Given the description of an element on the screen output the (x, y) to click on. 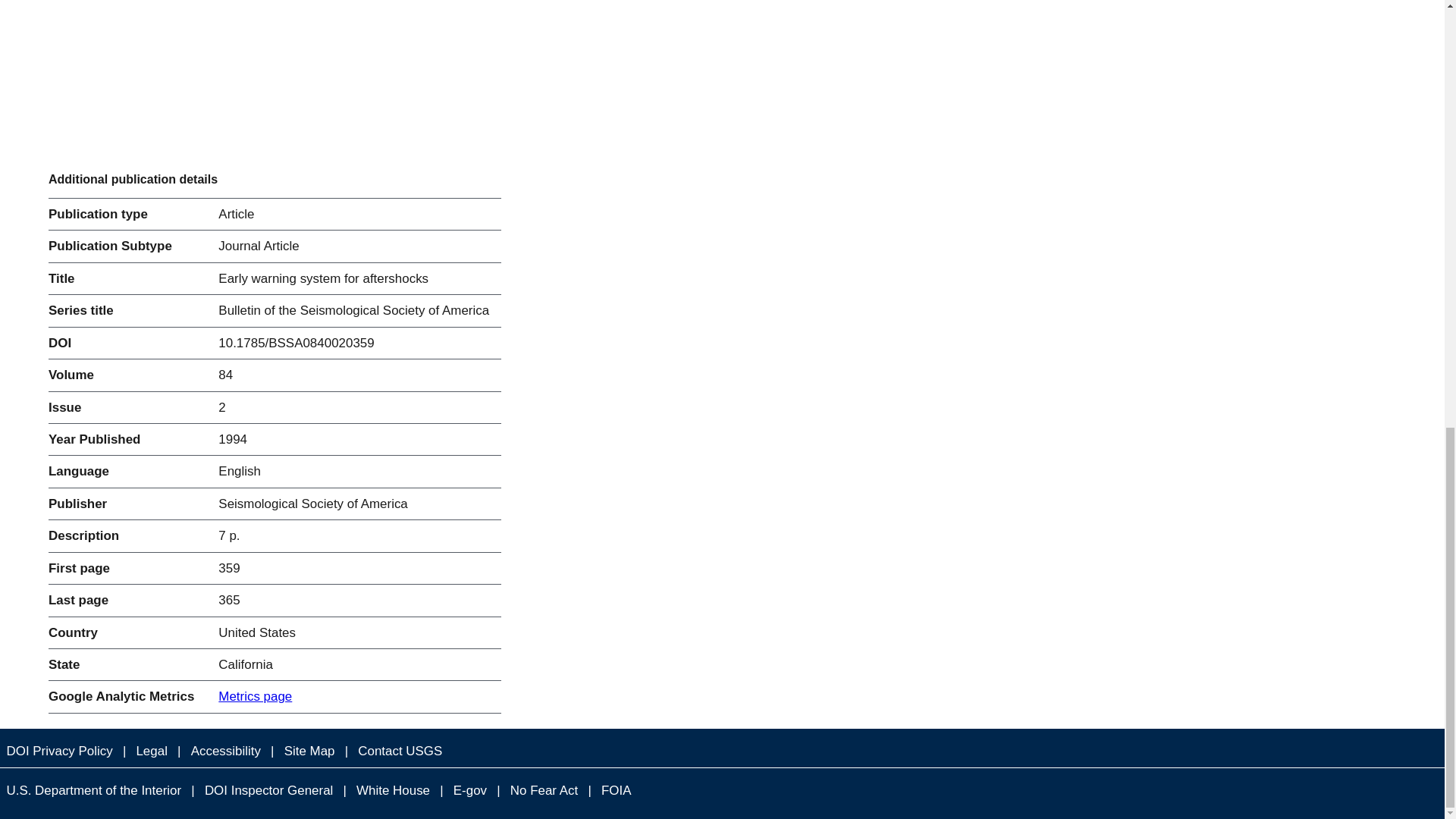
DOI Inspector General (268, 790)
E-gov (469, 790)
Legal (151, 751)
U.S. Department of the Interior (93, 790)
FOIA (616, 790)
No Fear Act (543, 790)
White House (393, 790)
Accessibility (225, 751)
Metrics page (255, 696)
Contact USGS (400, 751)
